Given the description of an element on the screen output the (x, y) to click on. 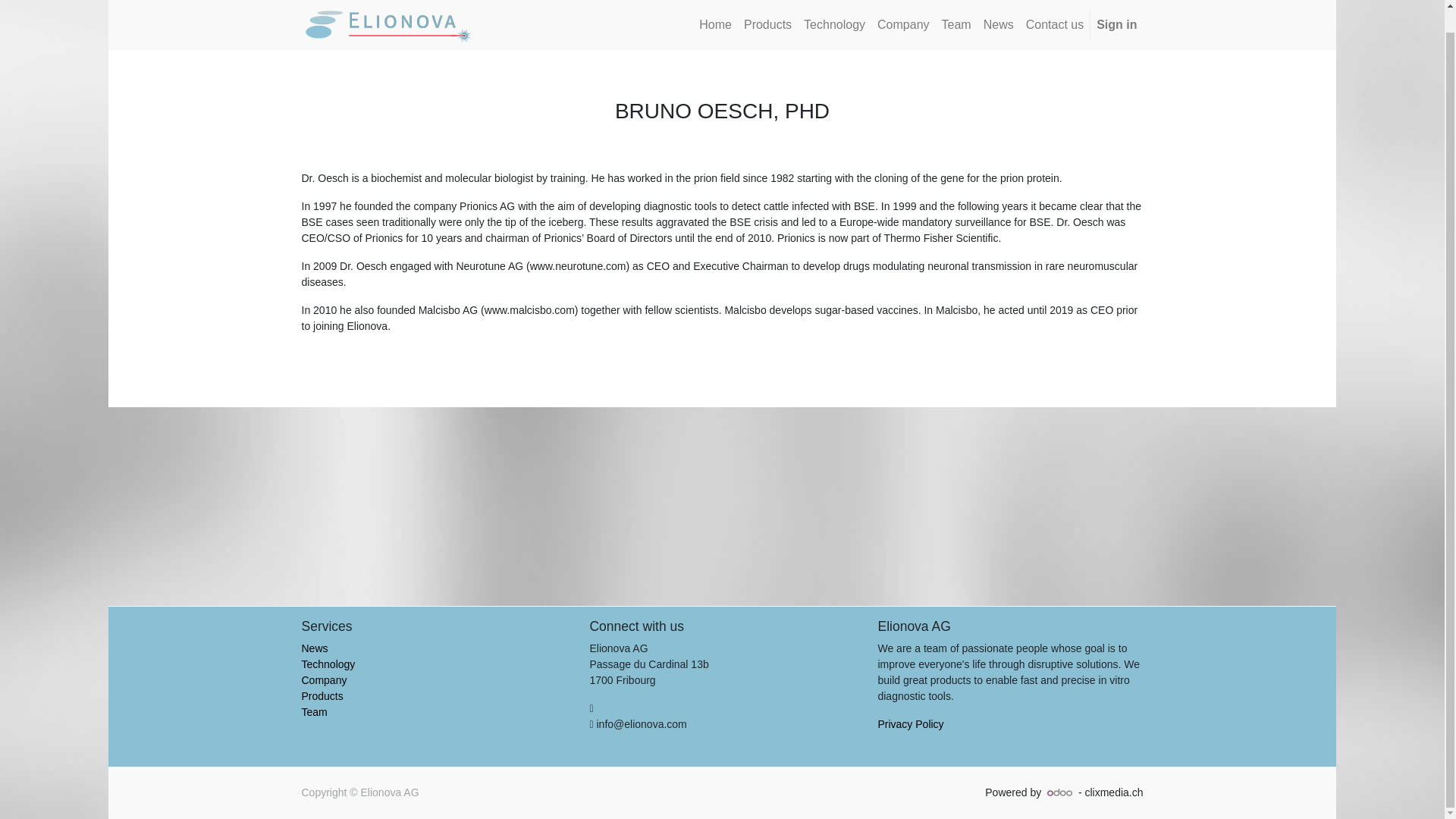
Company (324, 680)
Privacy Policy (910, 724)
Sign in (1116, 24)
Contact us (1054, 24)
Team (314, 711)
News (998, 24)
Products (322, 695)
Technology (833, 24)
Home (715, 24)
Company (902, 24)
Products (767, 24)
Team (956, 24)
elionova.com (389, 24)
News (315, 648)
Technology (328, 664)
